Given the description of an element on the screen output the (x, y) to click on. 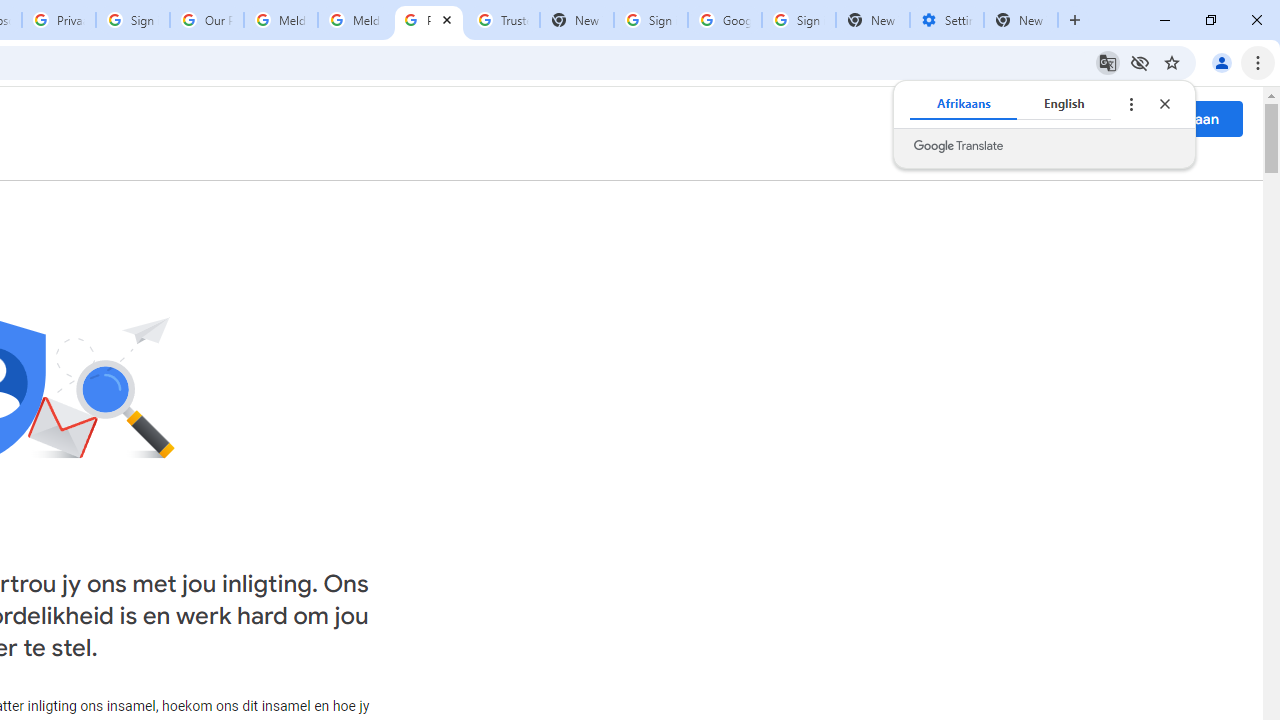
Sign in - Google Accounts (798, 20)
Google-programme (1101, 118)
New Tab (1021, 20)
Google Cybersecurity Innovations - Google Safety Center (724, 20)
New Tab (872, 20)
Sign in - Google Accounts (133, 20)
Trusted Information and Content - Google Safety Center (502, 20)
